Given the description of an element on the screen output the (x, y) to click on. 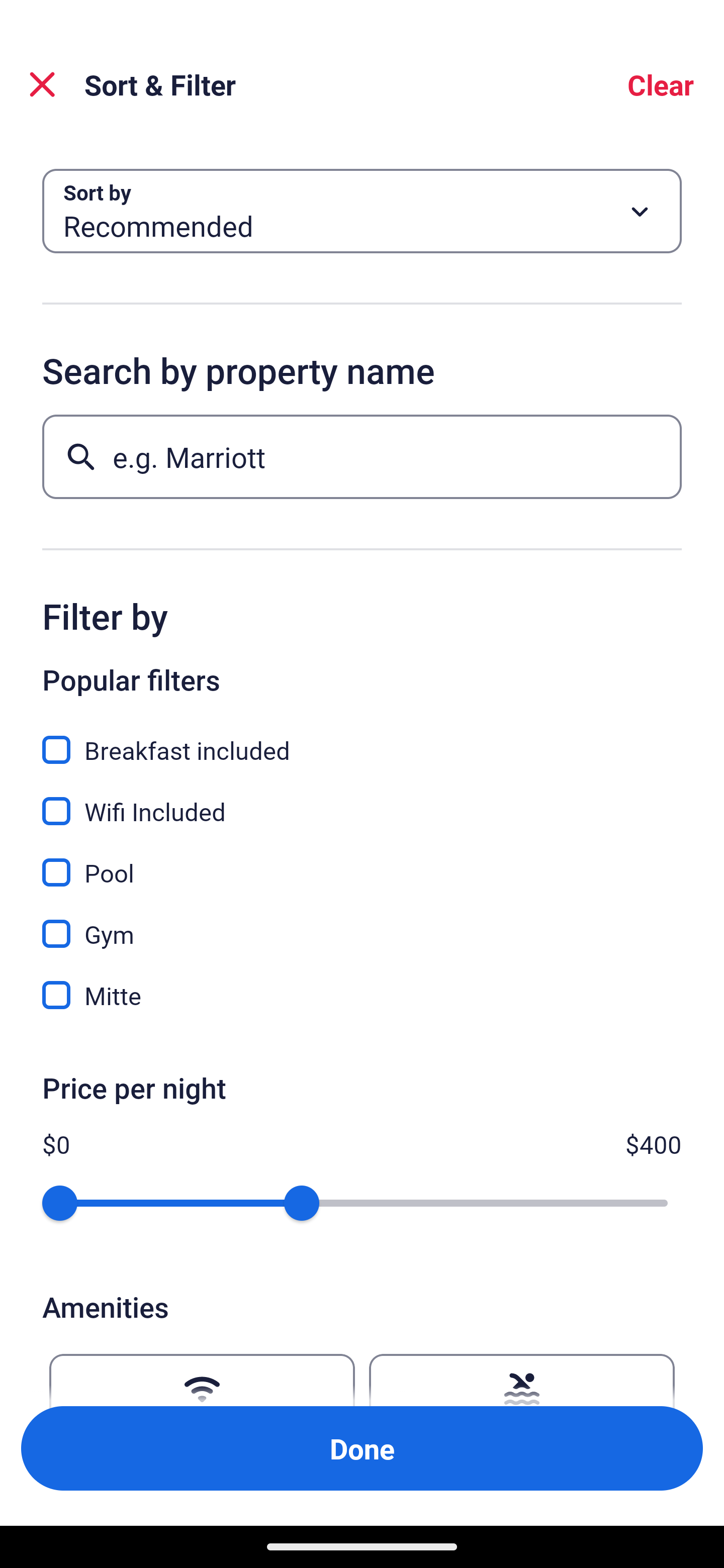
Close Sort and Filter (42, 84)
Clear (660, 84)
Sort by Button Recommended (361, 211)
e.g. Marriott Button (361, 455)
Breakfast included, Breakfast included (361, 738)
Wifi Included, Wifi Included (361, 800)
Pool, Pool (361, 861)
Gym, Gym (361, 922)
Mitte, Mitte (361, 995)
Apply and close Sort and Filter Done (361, 1448)
